Given the description of an element on the screen output the (x, y) to click on. 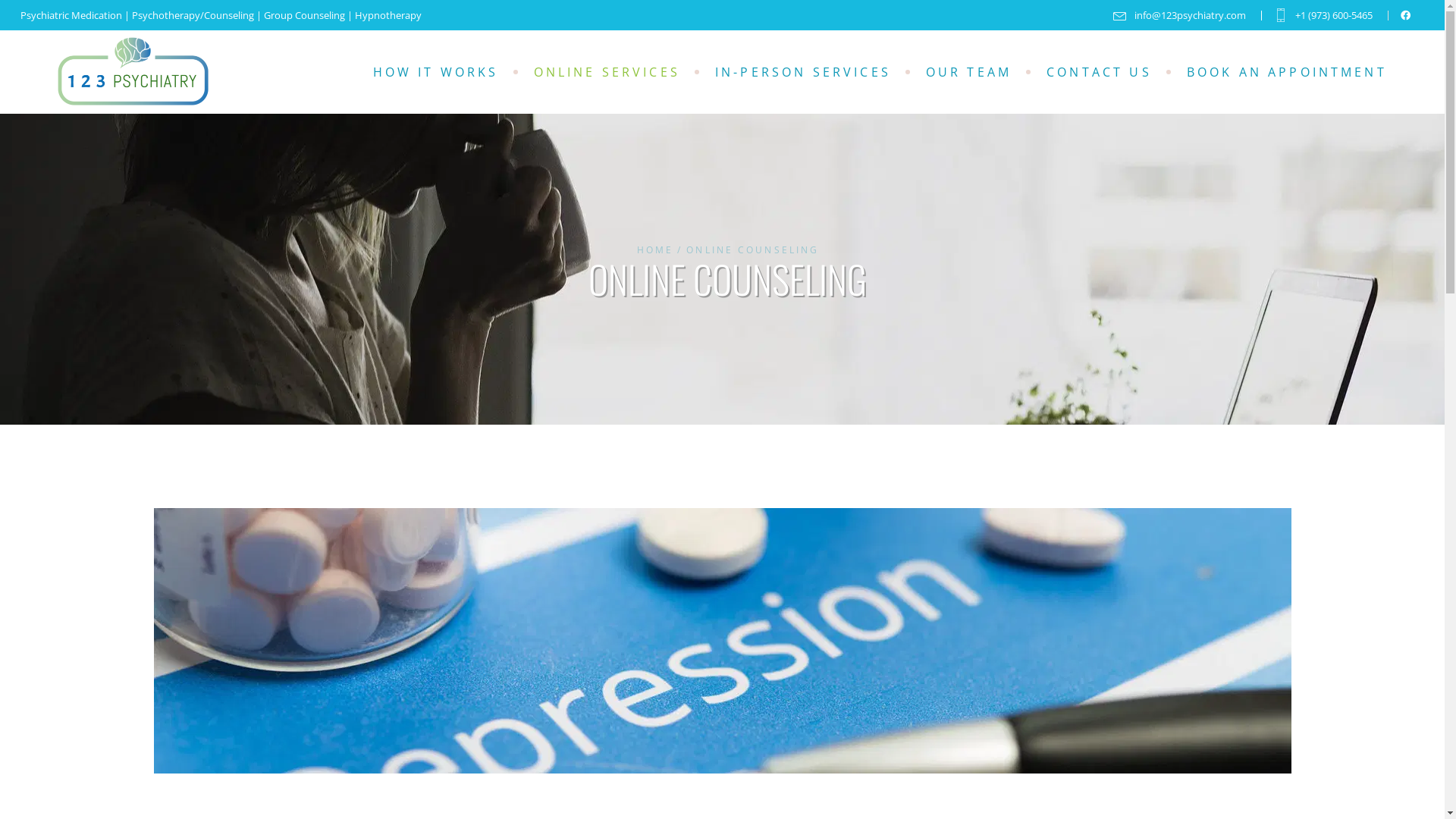
+1 (973) 600-5465 Element type: text (1323, 14)
info@123psychiatry.com Element type: text (1179, 14)
OUR TEAM Element type: text (968, 71)
IN-PERSON SERVICES Element type: text (803, 71)
HOME Element type: text (655, 249)
BOOK AN APPOINTMENT Element type: text (1286, 71)
ONLINE SERVICES Element type: text (606, 71)
HOW IT WORKS Element type: text (435, 71)
Depression Element type: hover (721, 640)
CONTACT US Element type: text (1098, 71)
